Given the description of an element on the screen output the (x, y) to click on. 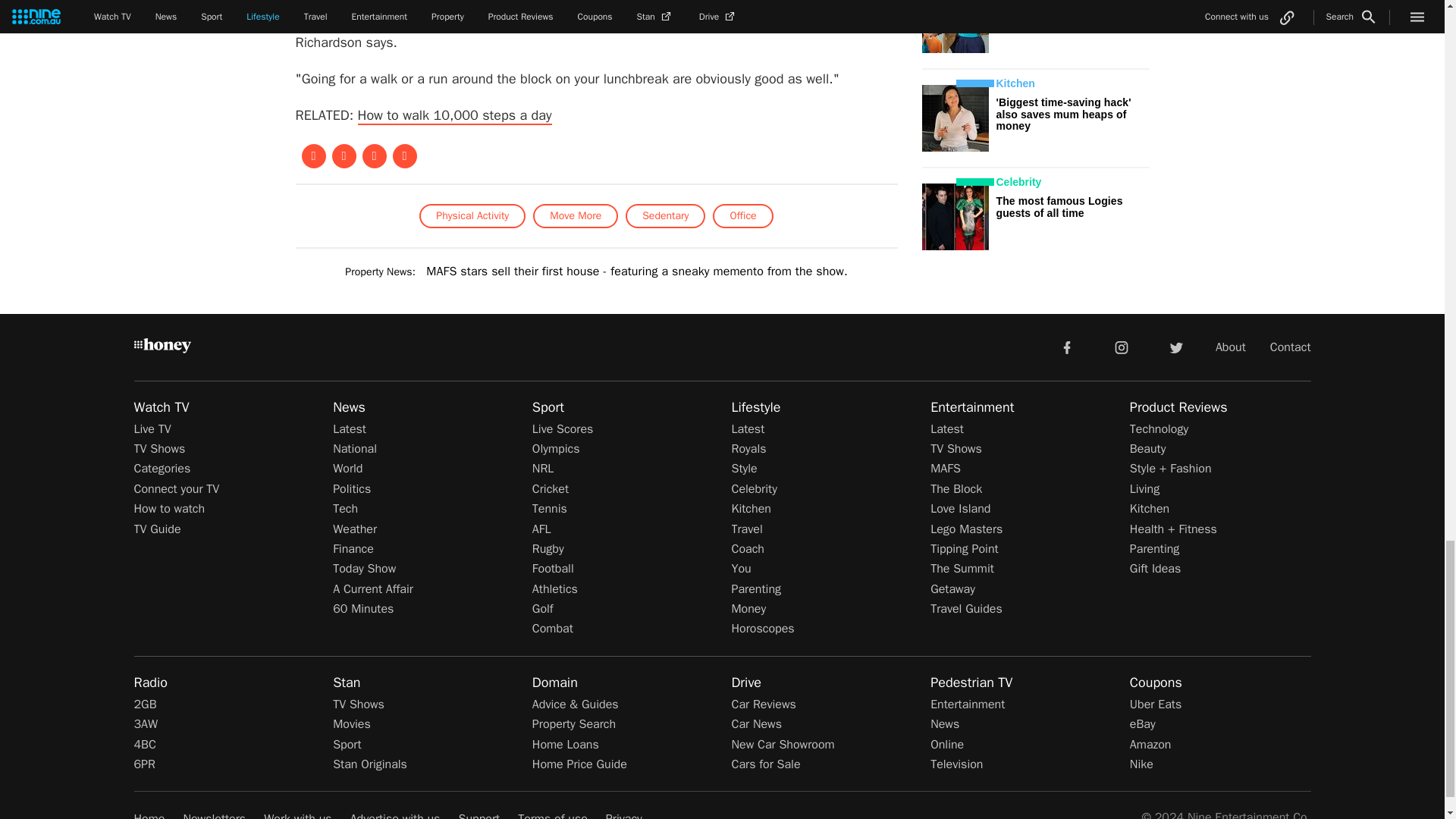
Physical Activity (472, 215)
Move More (574, 215)
facebook (1066, 346)
How to walk 10,000 steps a day (454, 116)
twitter (1175, 346)
instagram (1121, 346)
Sedentary (665, 215)
